Given the description of an element on the screen output the (x, y) to click on. 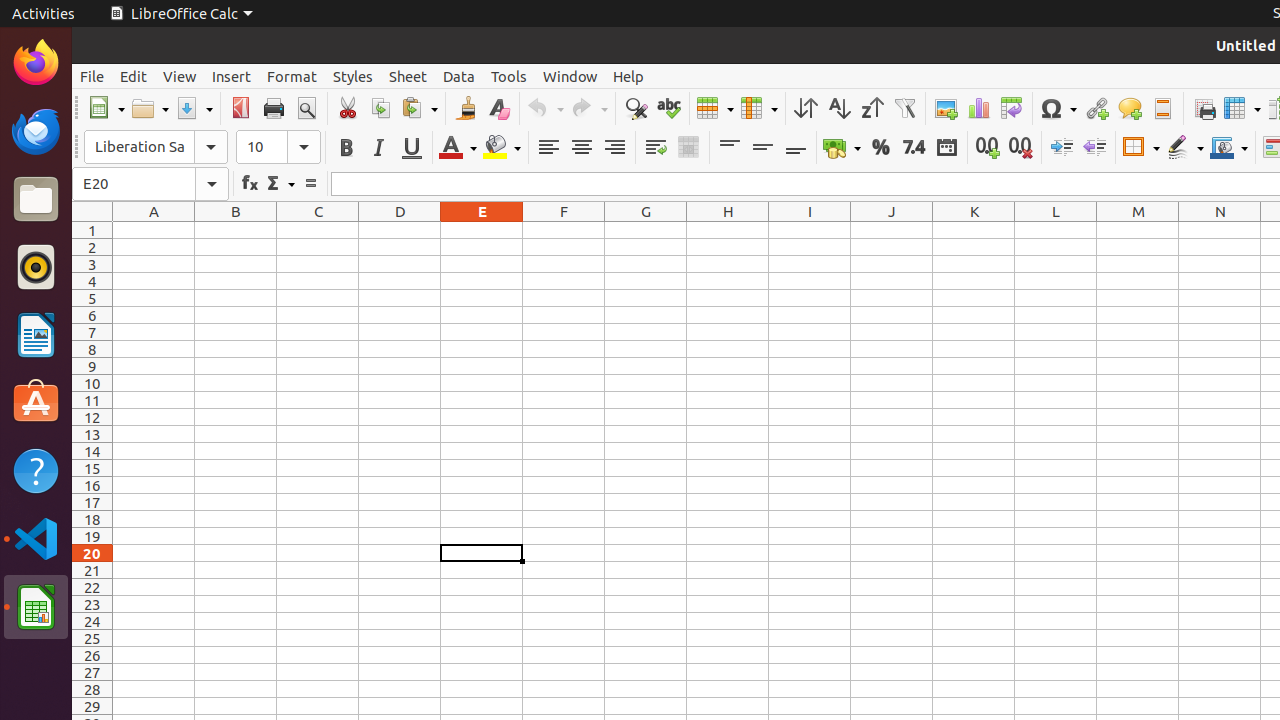
Align Right Element type: push-button (614, 147)
LibreOffice Writer Element type: push-button (36, 334)
Select Function Element type: push-button (280, 183)
B1 Element type: table-cell (236, 230)
Styles Element type: menu (353, 76)
